Given the description of an element on the screen output the (x, y) to click on. 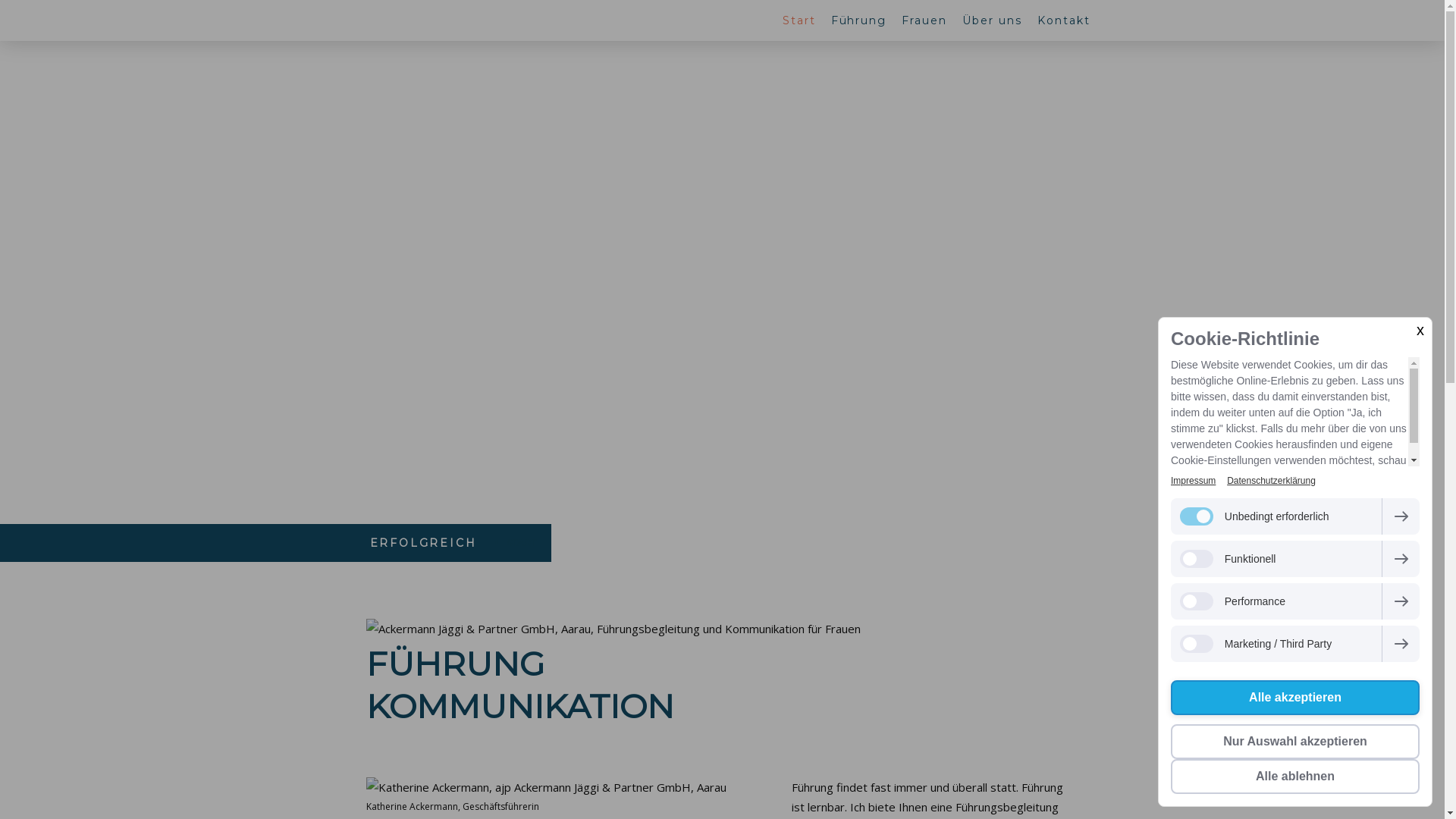
Impressum Element type: text (1192, 480)
START Element type: text (517, 542)
Start Element type: text (799, 19)
Kontakt Element type: text (1063, 19)
Alle akzeptieren Element type: text (1294, 697)
ERFOLGREICH Element type: text (423, 542)
Nur Auswahl akzeptieren Element type: text (1294, 741)
Alle ablehnen Element type: text (1294, 776)
Frauen Element type: text (924, 19)
